Given the description of an element on the screen output the (x, y) to click on. 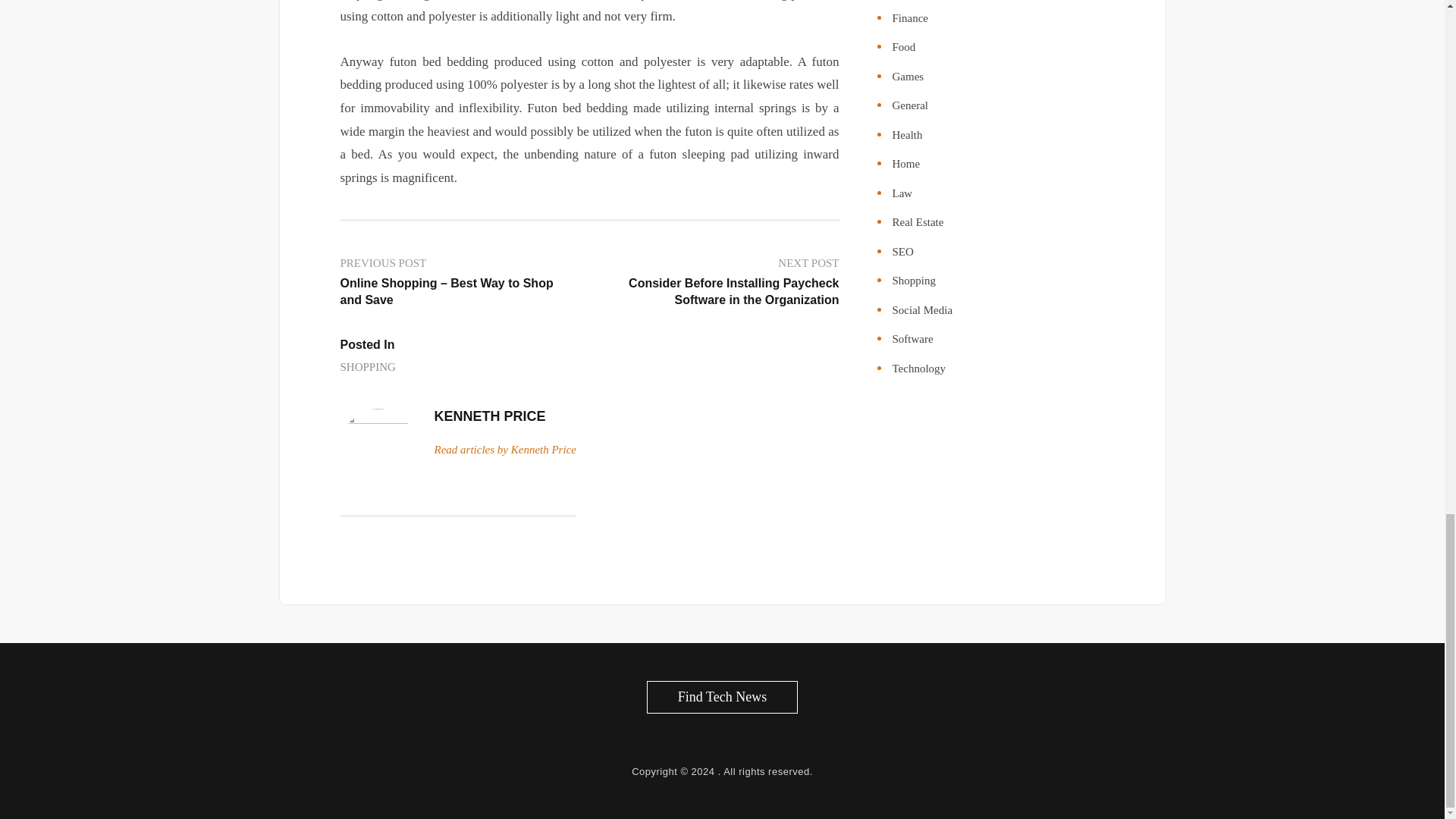
Technology (917, 368)
Home (905, 163)
SHOPPING (366, 367)
Finance (909, 18)
Health (906, 134)
SEO (901, 251)
Law (901, 193)
Real Estate (917, 222)
Games (907, 76)
